Given the description of an element on the screen output the (x, y) to click on. 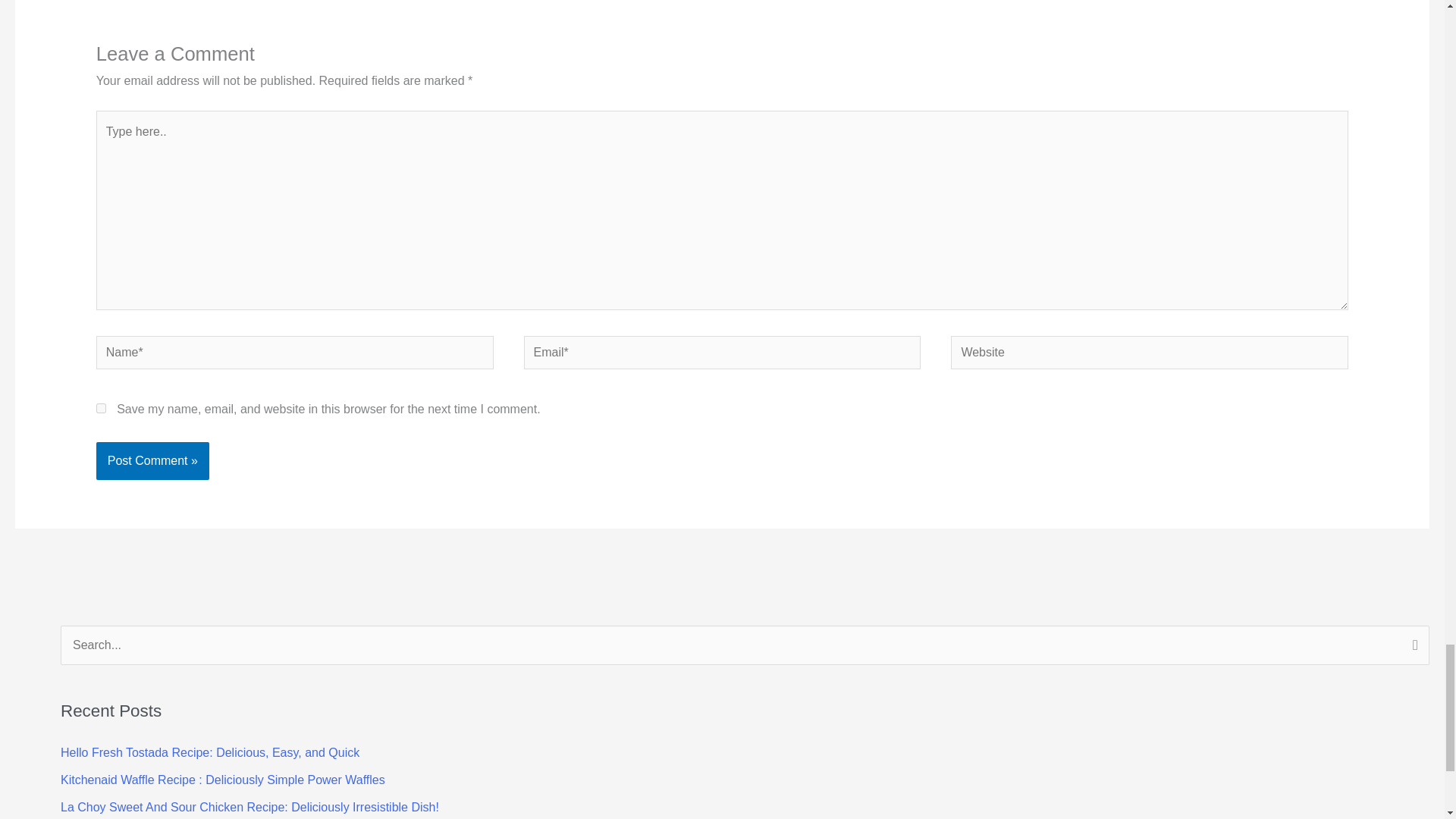
Hello Fresh Tostada Recipe: Delicious, Easy, and Quick (210, 752)
Search (1411, 646)
Kitchenaid Waffle Recipe : Deliciously Simple Power Waffles (223, 779)
Search (1411, 646)
Search (1411, 646)
yes (101, 408)
